Given the description of an element on the screen output the (x, y) to click on. 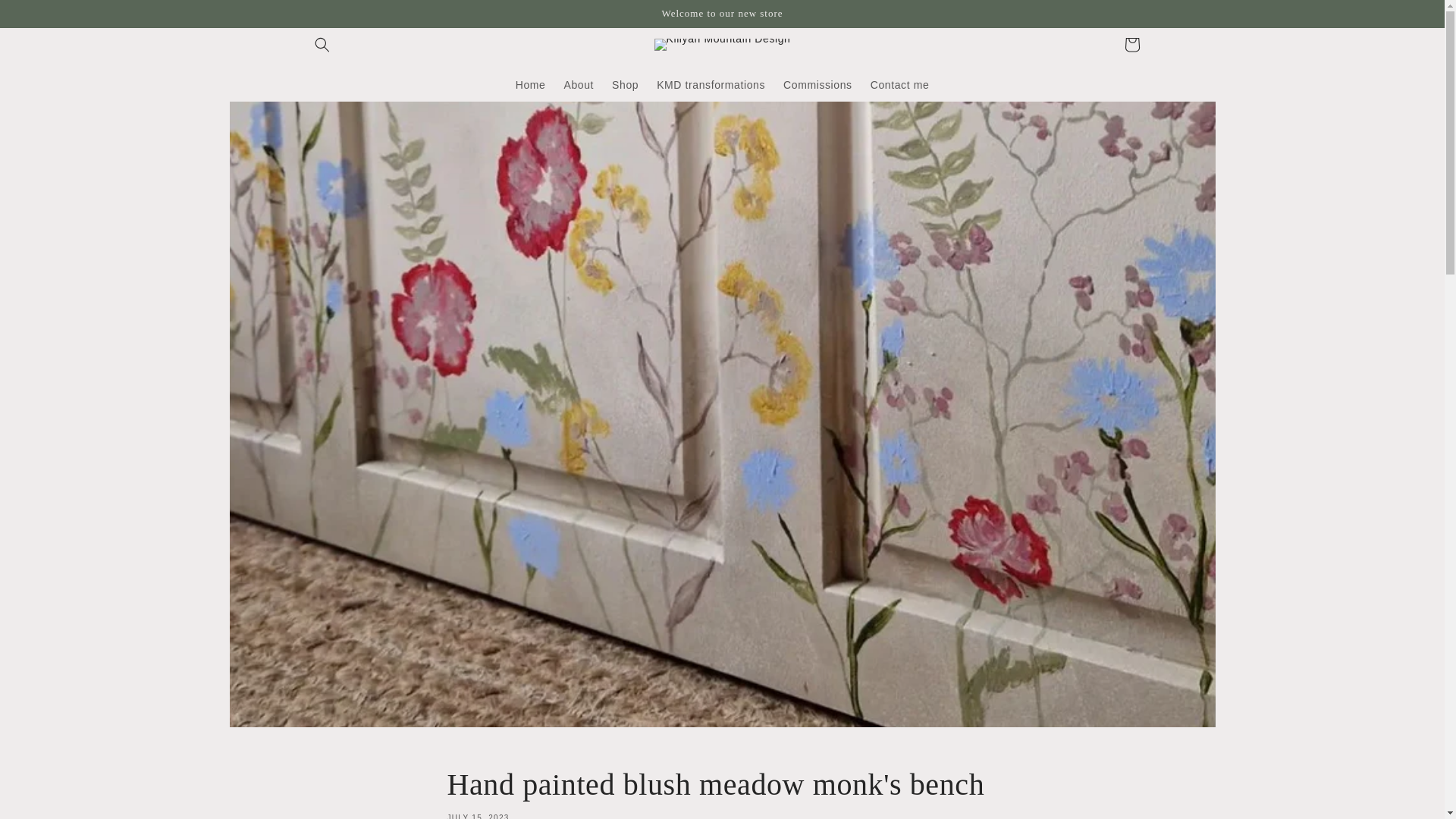
Skip to content (45, 17)
About (578, 84)
KMD transformations (721, 791)
Cart (710, 84)
Home (1131, 44)
Commissions (530, 84)
Shop (817, 84)
Contact me (624, 84)
